Given the description of an element on the screen output the (x, y) to click on. 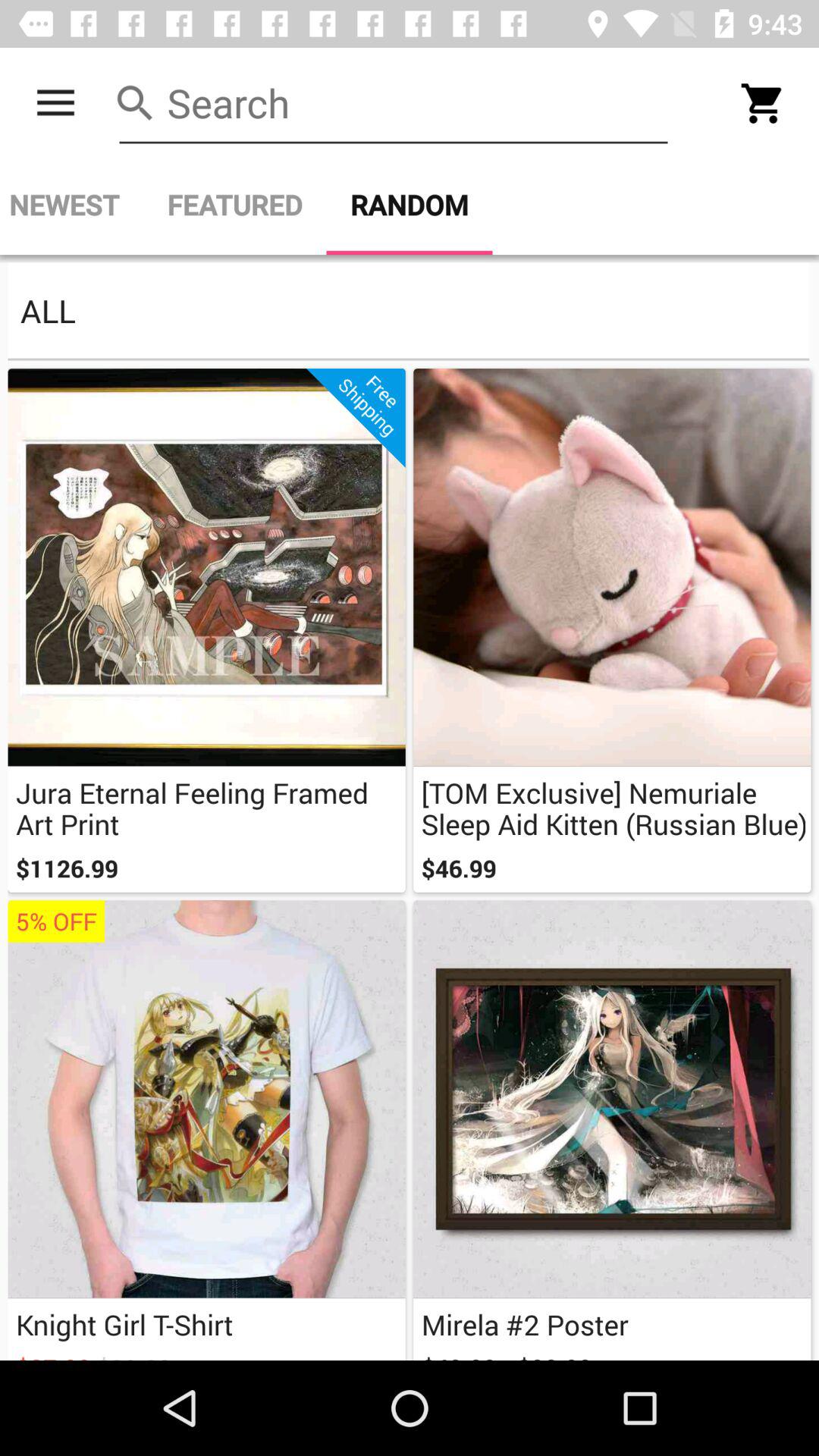
tap the item next to random icon (234, 204)
